Given the description of an element on the screen output the (x, y) to click on. 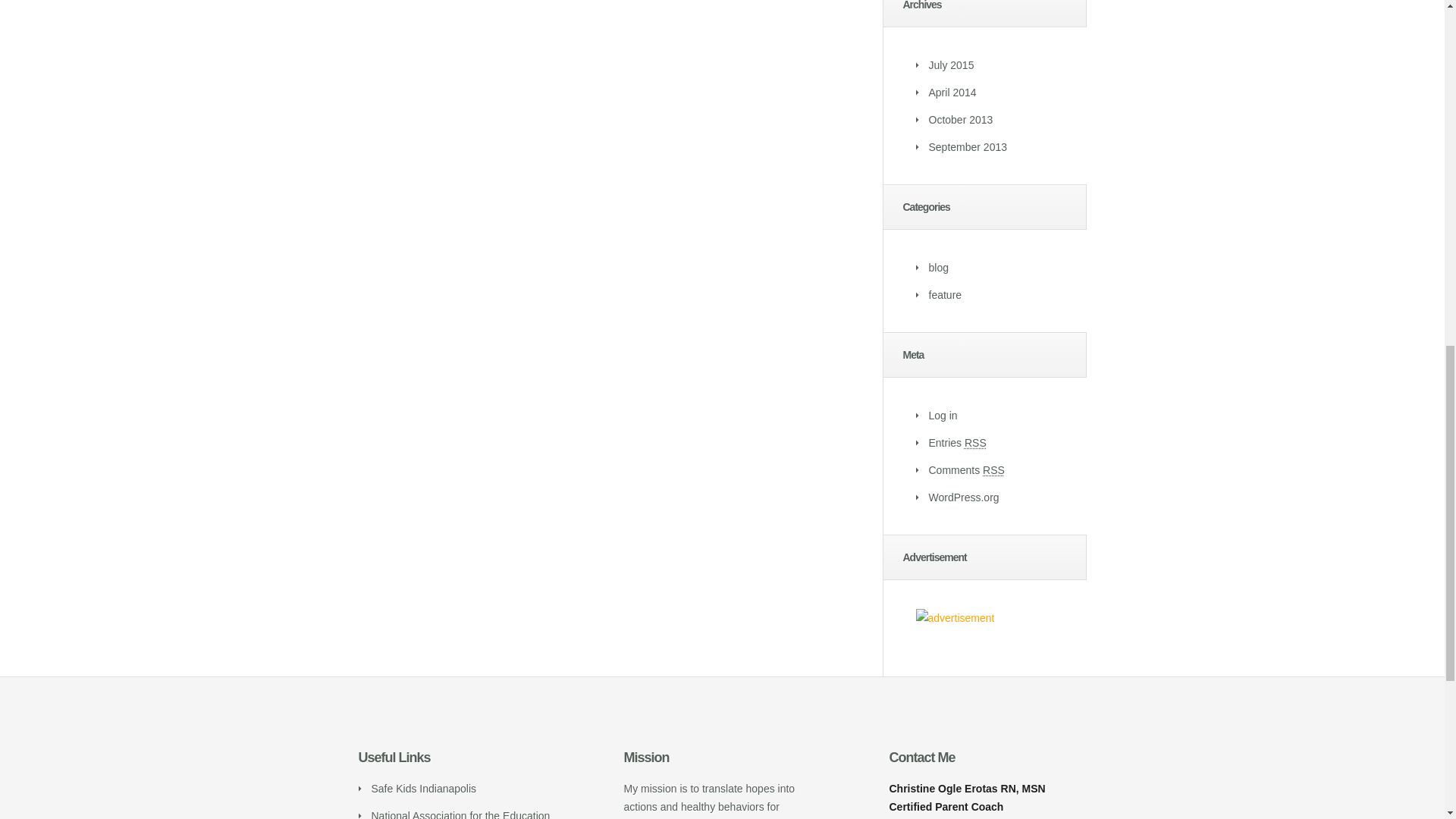
September 2013 (967, 146)
blog (937, 267)
Log in (942, 415)
Really Simple Syndication (993, 469)
April 2014 (951, 92)
advertisement (954, 618)
Comments RSS (966, 469)
feature (944, 295)
July 2015 (951, 64)
